Given the description of an element on the screen output the (x, y) to click on. 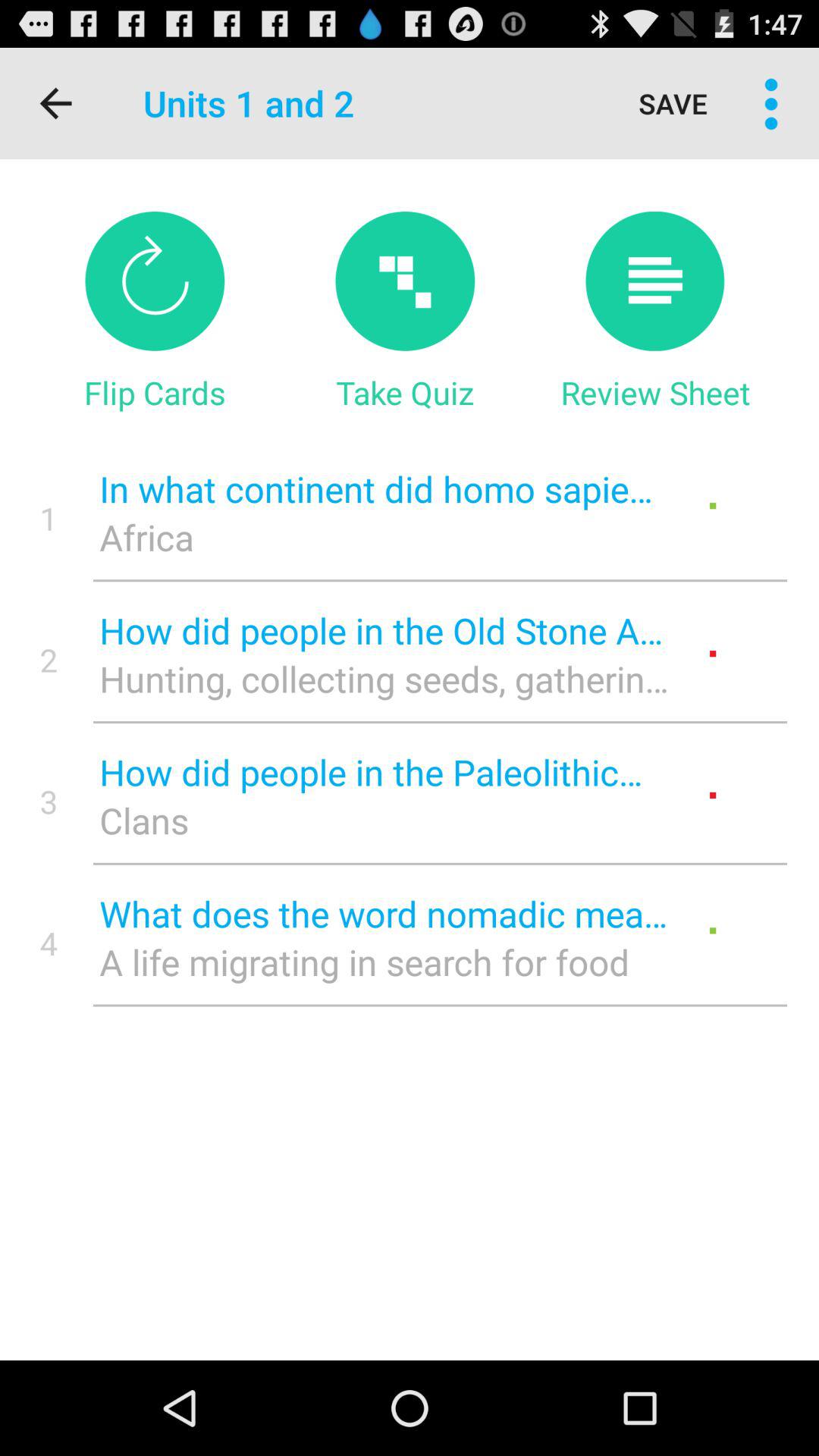
flip to hunting collecting seeds icon (384, 678)
